Given the description of an element on the screen output the (x, y) to click on. 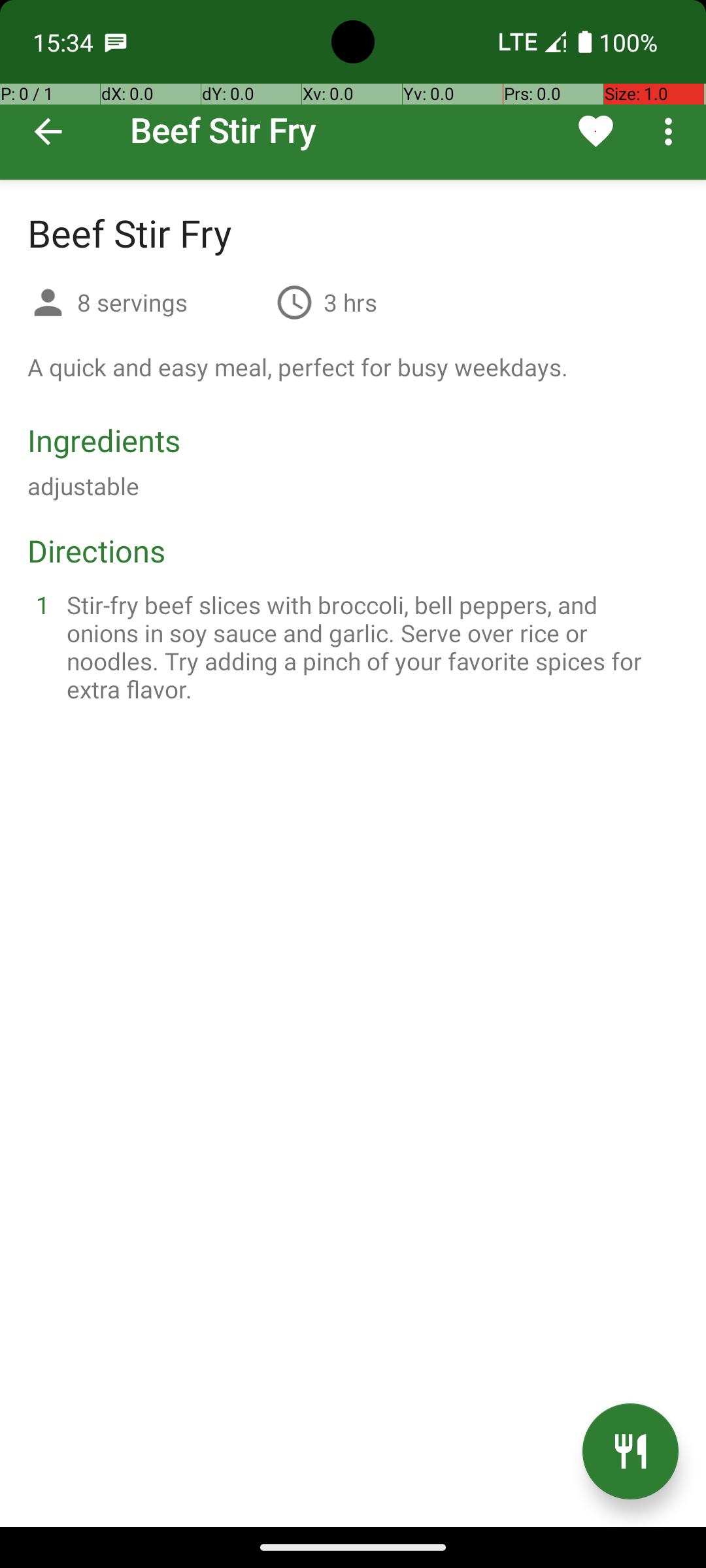
Stir-fry beef slices with broccoli, bell peppers, and onions in soy sauce and garlic. Serve over rice or noodles. Try adding a pinch of your favorite spices for extra flavor. Element type: android.widget.TextView (368, 646)
